Given the description of an element on the screen output the (x, y) to click on. 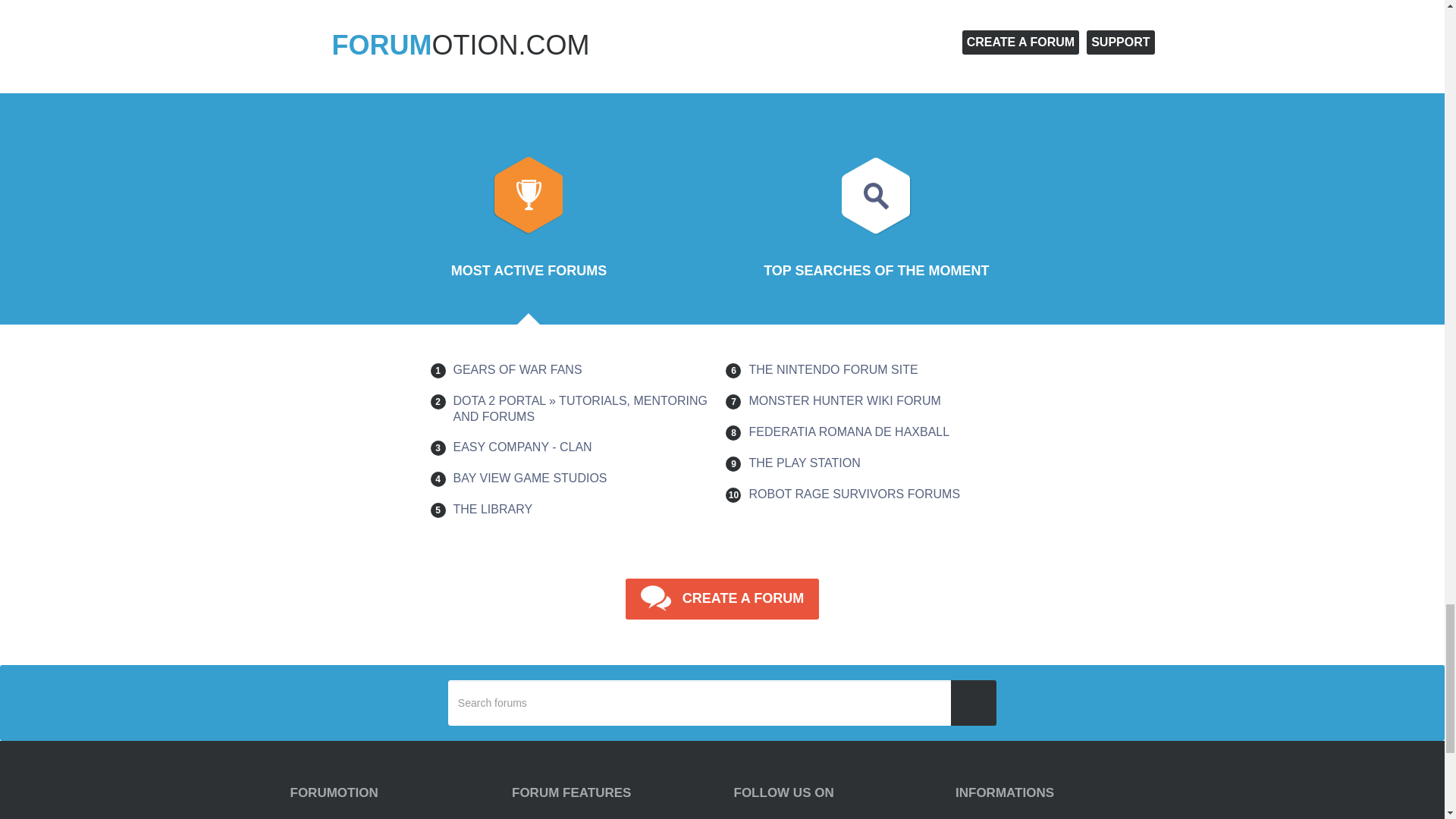
GEARS OF WAR FANS (517, 369)
EASY COMPANY - CLAN (522, 446)
TOP SEARCHES OF THE MOMENT (875, 223)
THE LIBRARY (492, 508)
BAY VIEW GAME STUDIOS (529, 477)
MOST ACTIVE FORUMS (529, 223)
